Given the description of an element on the screen output the (x, y) to click on. 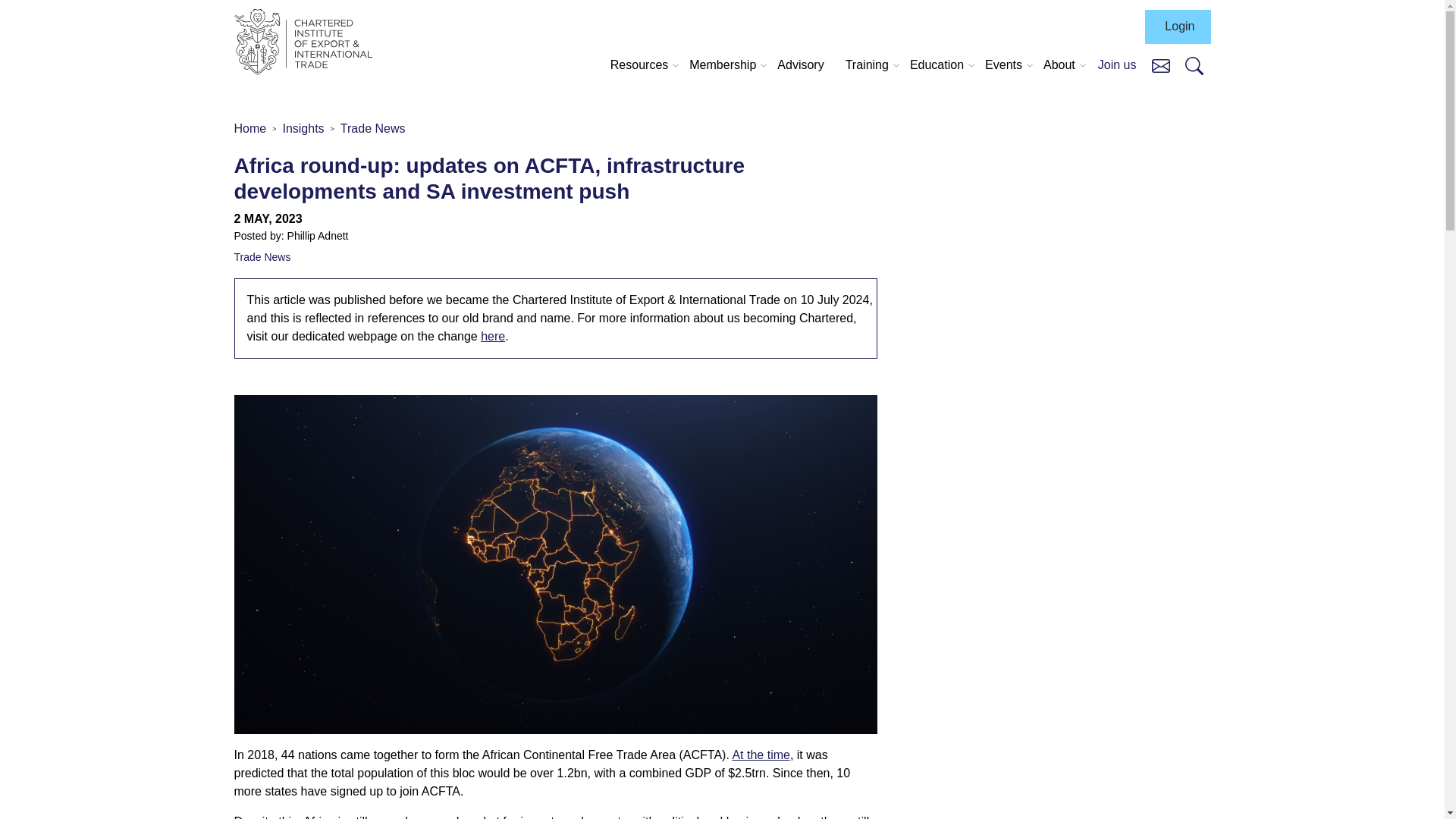
Events (1002, 65)
Contact us (1160, 64)
Education (936, 65)
Login (1176, 26)
Search (1193, 65)
Resources (638, 65)
Training (867, 65)
About (1059, 65)
Advisory (800, 65)
Membership (721, 65)
